Given the description of an element on the screen output the (x, y) to click on. 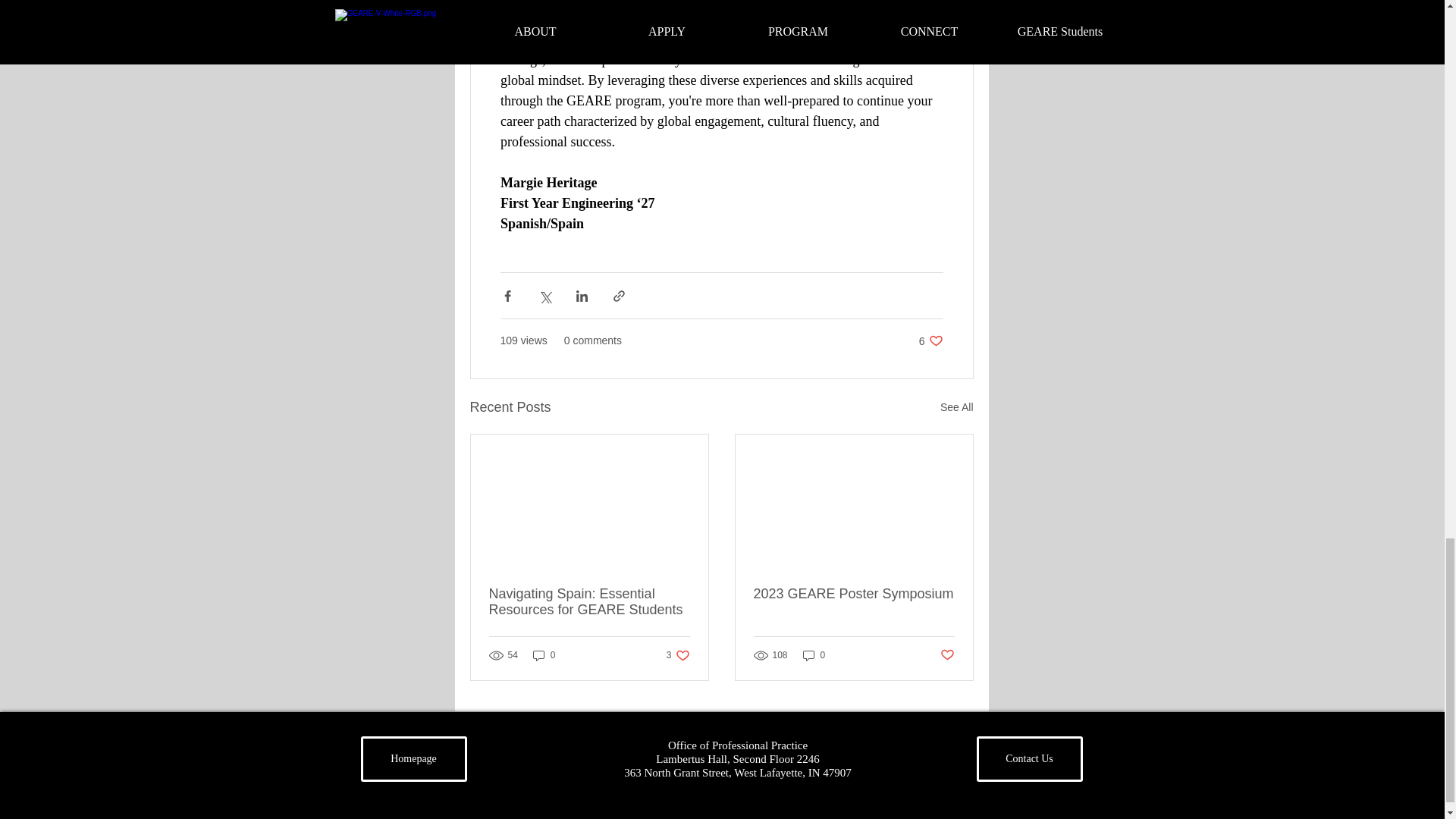
0 (544, 655)
Homepage (930, 340)
2023 GEARE Poster Symposium (678, 655)
0 (414, 759)
Navigating Spain: Essential Resources for GEARE Students (854, 593)
Post not marked as liked (814, 655)
See All (587, 602)
Contact Us (947, 655)
